Given the description of an element on the screen output the (x, y) to click on. 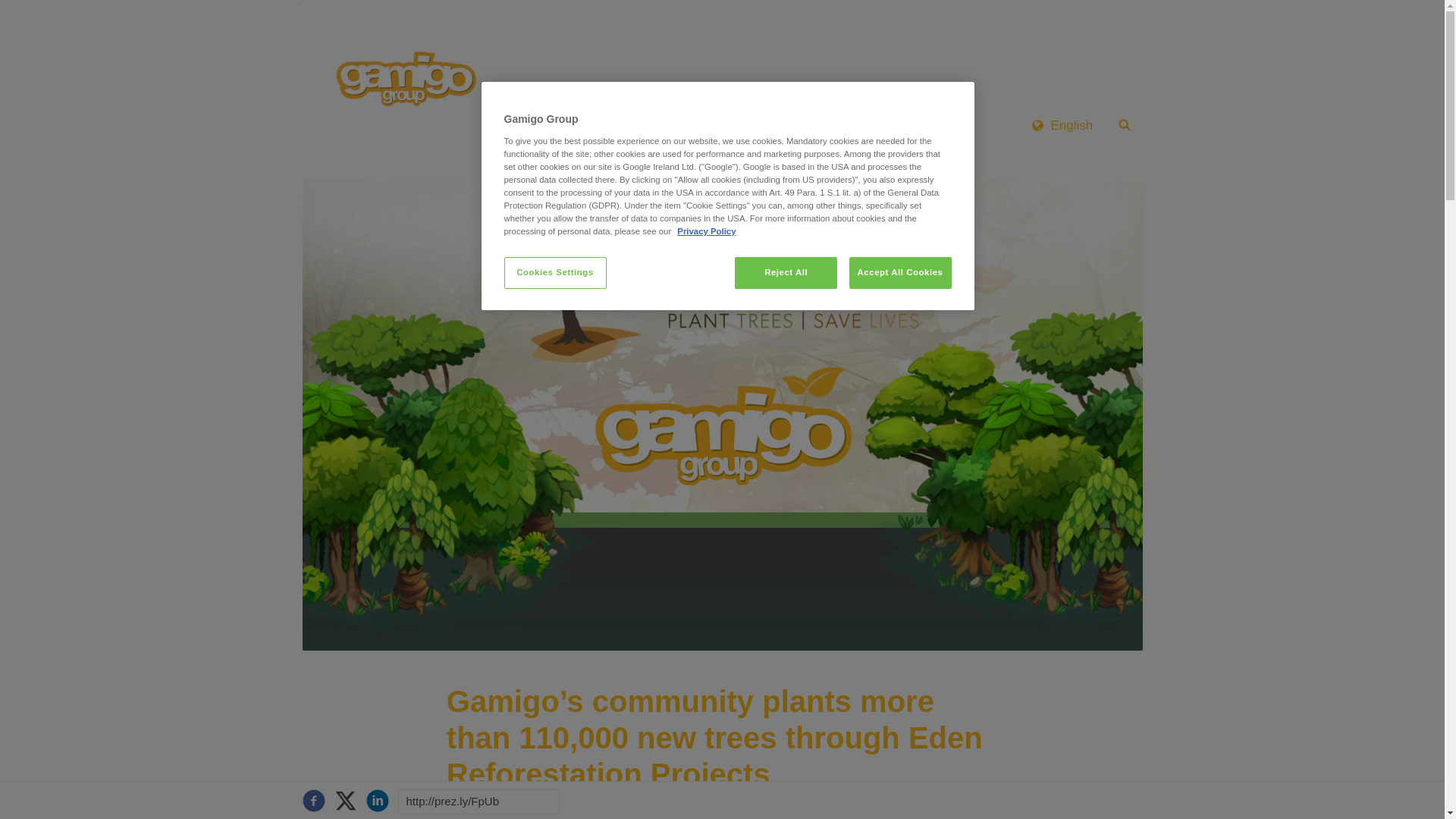
gamigo group (401, 79)
tweet this (344, 799)
Accept All Cookies (900, 273)
Cookies Settings (554, 273)
English (1061, 124)
share on Facebook (312, 799)
English (1061, 124)
Privacy Policy (706, 230)
Reject All (786, 273)
Search in newsroom (1123, 124)
